Given the description of an element on the screen output the (x, y) to click on. 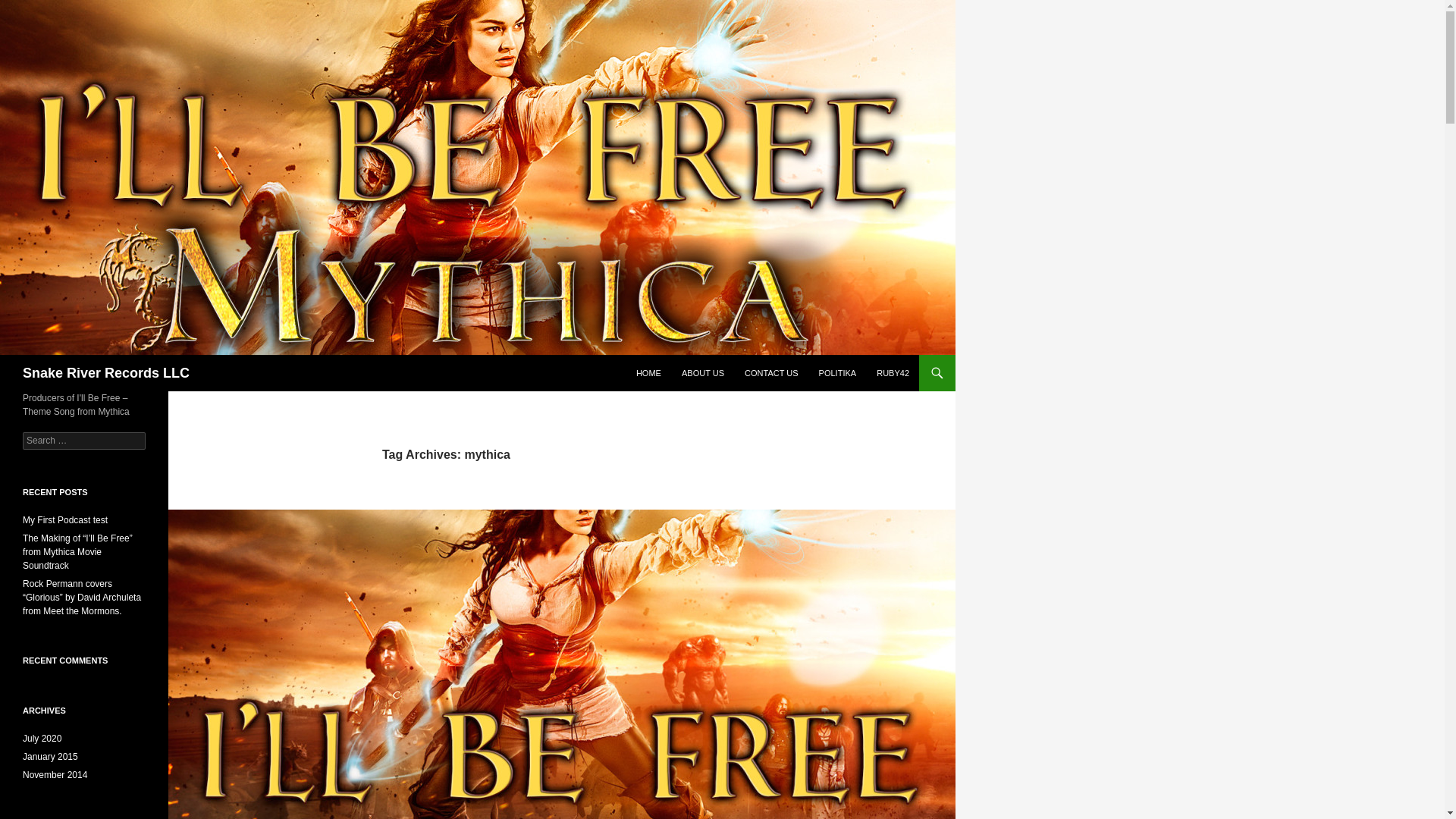
HOME (648, 372)
Snake River Records LLC (106, 372)
CONTACT US (771, 372)
ABOUT US (702, 372)
POLITIKA (837, 372)
RUBY42 (892, 372)
